Given the description of an element on the screen output the (x, y) to click on. 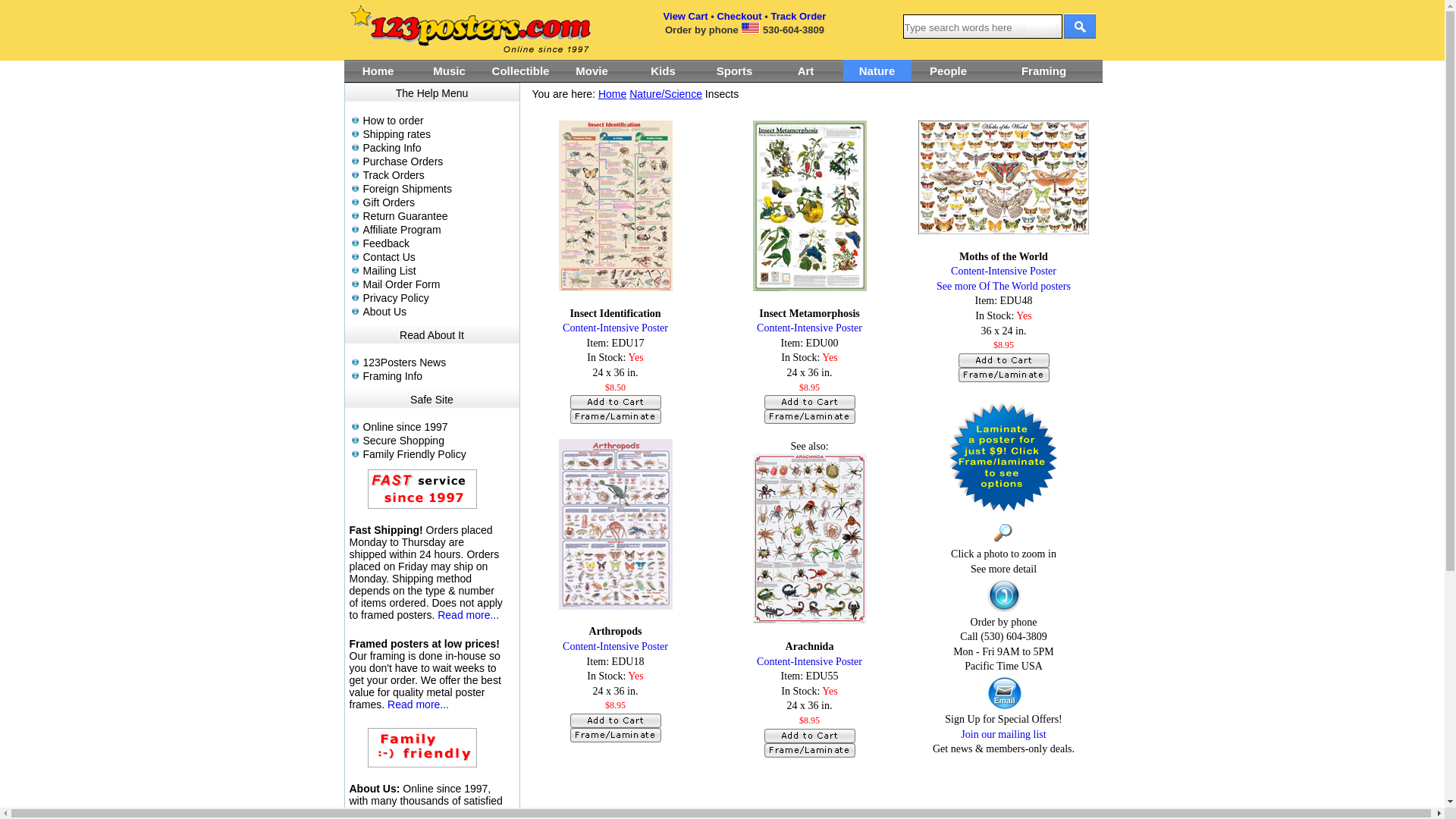
How to order Element type: text (438, 120)
Mail Order Form Element type: text (438, 284)
Home Element type: text (612, 93)
Art Element type: text (805, 70)
Gift Orders Element type: text (438, 202)
Shipping rates Element type: text (438, 134)
Read more... Element type: text (417, 704)
123Posters Home Page Element type: hover (469, 29)
Content-Intensive Poster Element type: text (615, 327)
Content-Intensive Poster Element type: text (1003, 270)
Contact Us Element type: text (438, 257)
Home Element type: text (378, 70)
Sports Element type: text (734, 70)
Family Friendly Policy Element type: text (438, 454)
Secure Shopping Element type: text (438, 440)
People Element type: text (948, 70)
Nature Element type: text (877, 70)
123Posters News Element type: text (438, 362)
View Cart Element type: text (685, 15)
Music Element type: text (449, 70)
Online since 1997 Element type: text (438, 426)
Nature/Science Element type: text (665, 93)
Content-Intensive Poster Element type: text (615, 646)
We are located in the USA Element type: hover (749, 27)
Foreign Shipments Element type: text (438, 188)
Join our mailing list Element type: text (1002, 733)
About Us Element type: text (438, 311)
Mailing List Element type: text (438, 270)
Framing Element type: text (1043, 70)
Feedback Element type: text (438, 243)
Track Orders Element type: text (438, 175)
See more Of The World posters Element type: text (1003, 285)
Track Order Element type: text (797, 15)
Content-Intensive Poster Element type: text (809, 327)
Purchase Orders Element type: text (438, 161)
Framing Info Element type: text (438, 376)
Checkout Element type: text (738, 15)
Read more... Element type: text (467, 614)
Packing Info Element type: text (438, 147)
Collectible Element type: text (520, 70)
Kids Element type: text (663, 70)
Privacy Policy Element type: text (438, 297)
Movie Element type: text (592, 70)
Content-Intensive Poster Element type: text (809, 661)
Search Element type: hover (1079, 24)
Return Guarantee Element type: text (438, 216)
Affiliate Program Element type: text (438, 229)
